Given the description of an element on the screen output the (x, y) to click on. 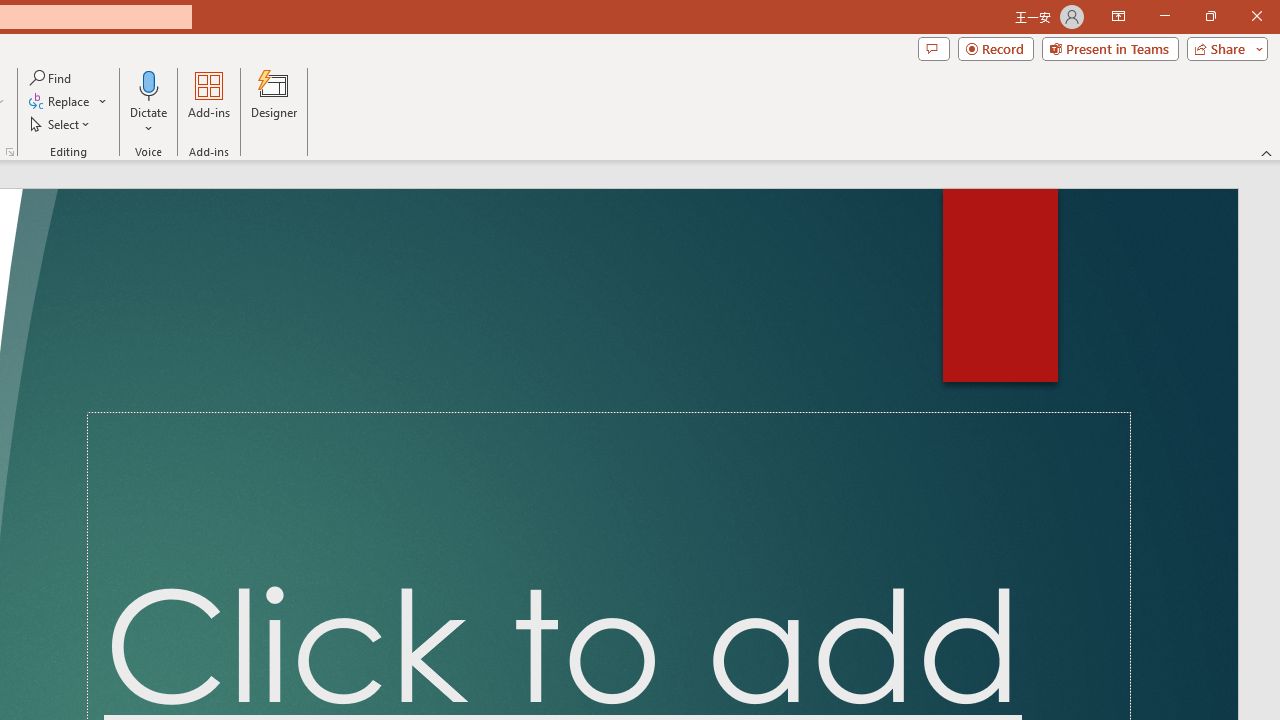
Find... (51, 78)
Format Object... (9, 151)
Select (61, 124)
